Given the description of an element on the screen output the (x, y) to click on. 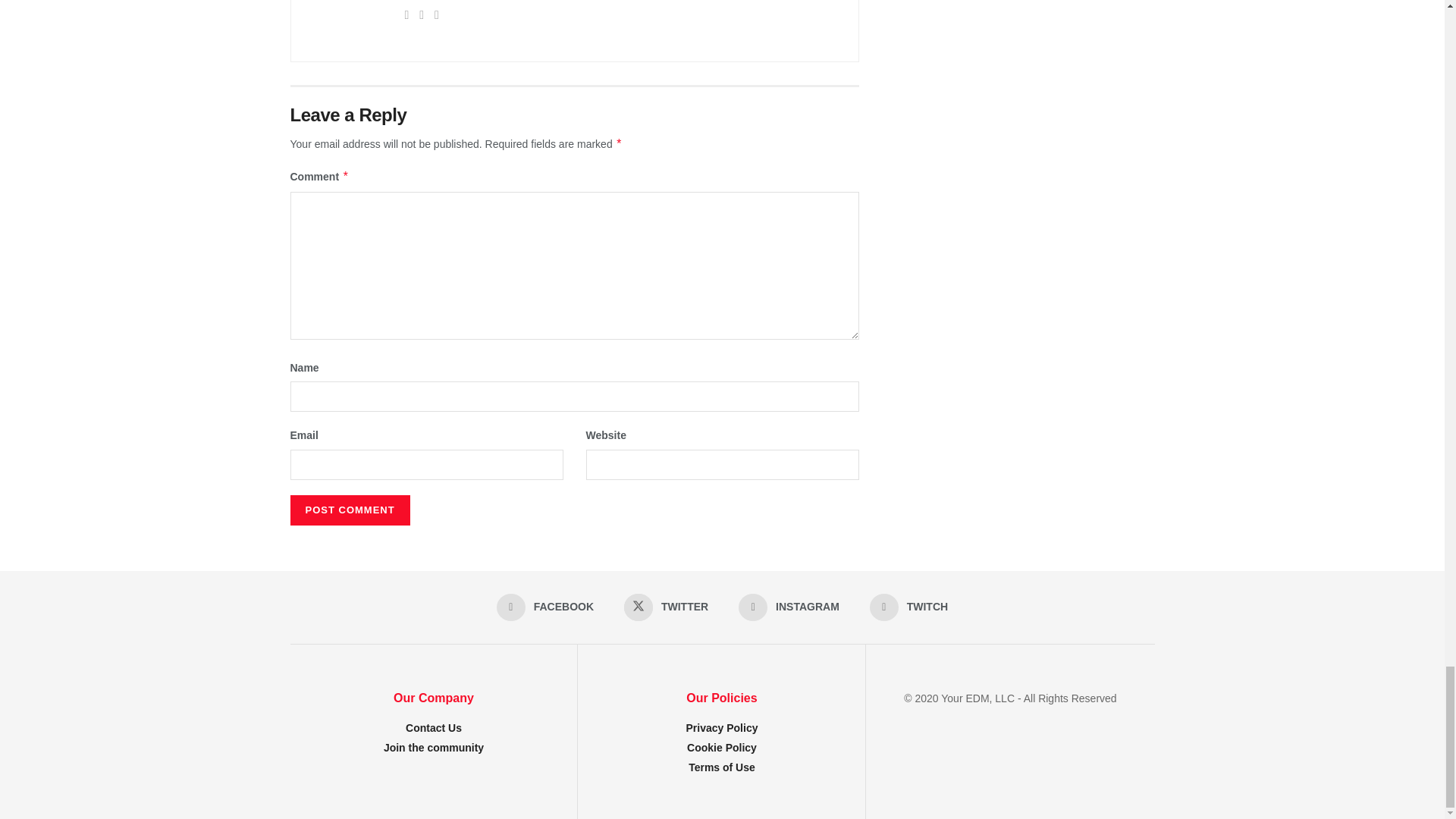
Post Comment (349, 510)
